Given the description of an element on the screen output the (x, y) to click on. 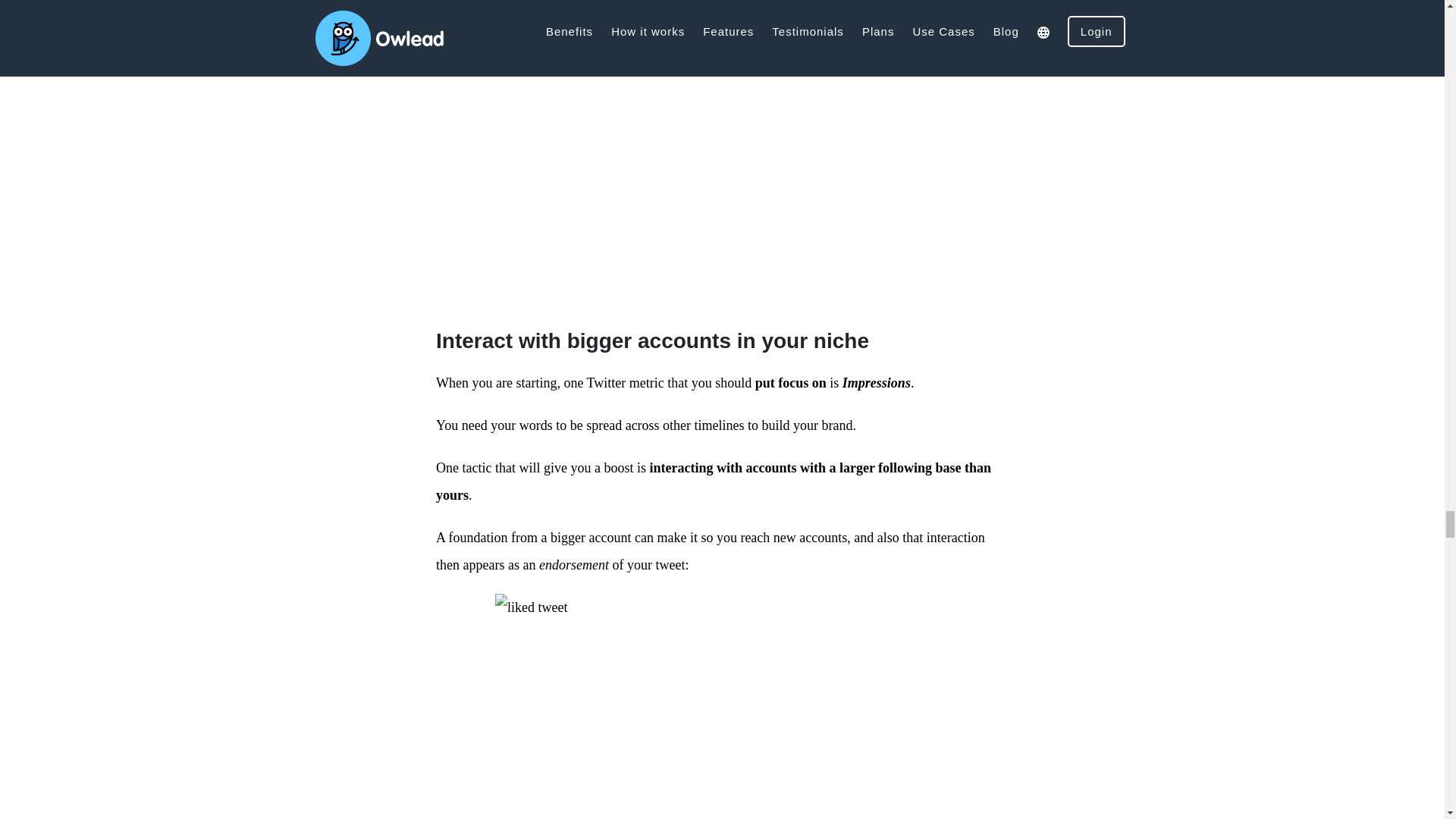
Intervene tweets to cross promote (722, 133)
